Given the description of an element on the screen output the (x, y) to click on. 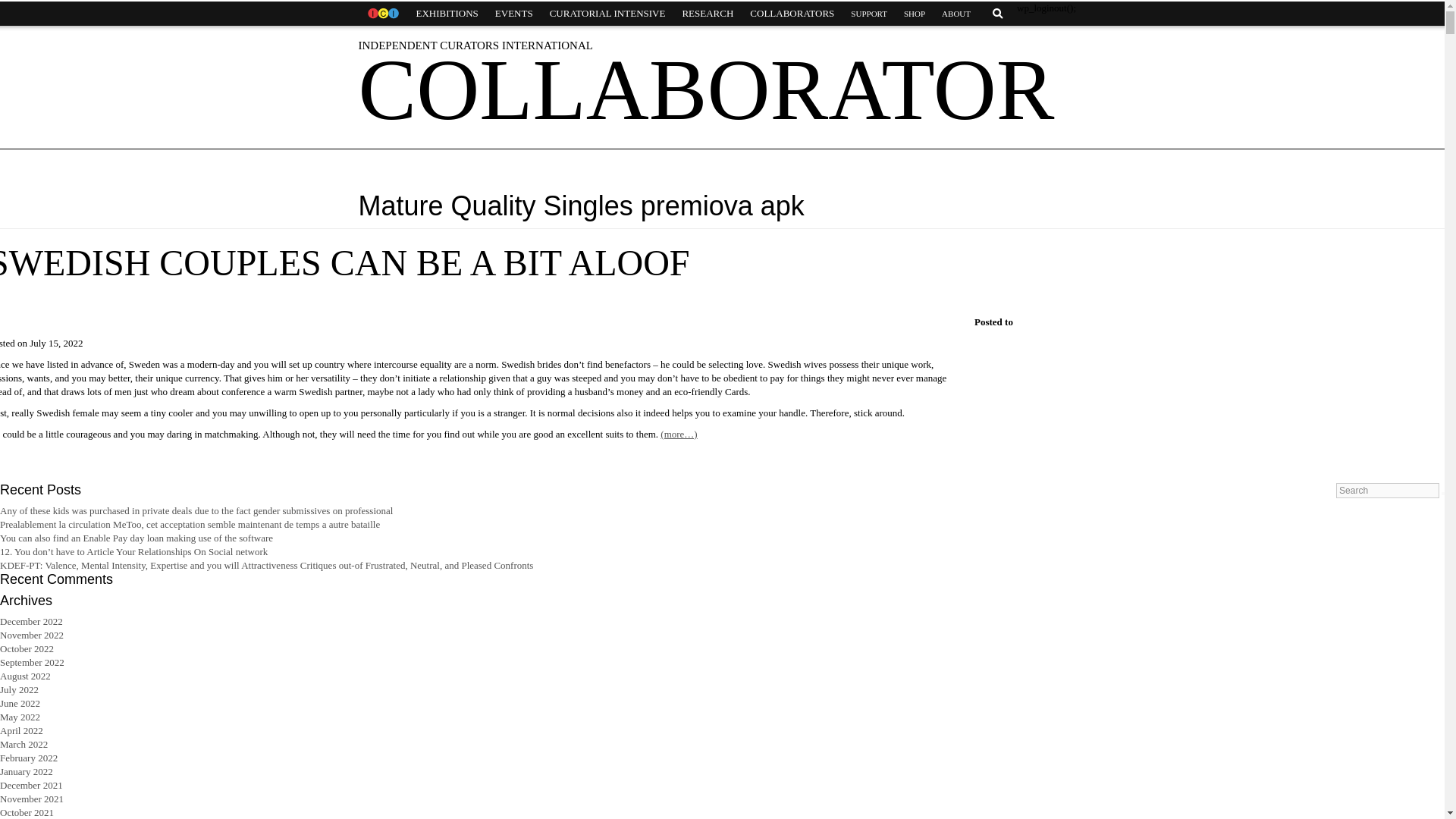
COLLABORATORS (792, 13)
EVENTS (513, 13)
RESEARCH (706, 13)
CURATORIAL INTENSIVE (607, 13)
HOME (382, 13)
EXHIBITIONS (446, 13)
